Given the description of an element on the screen output the (x, y) to click on. 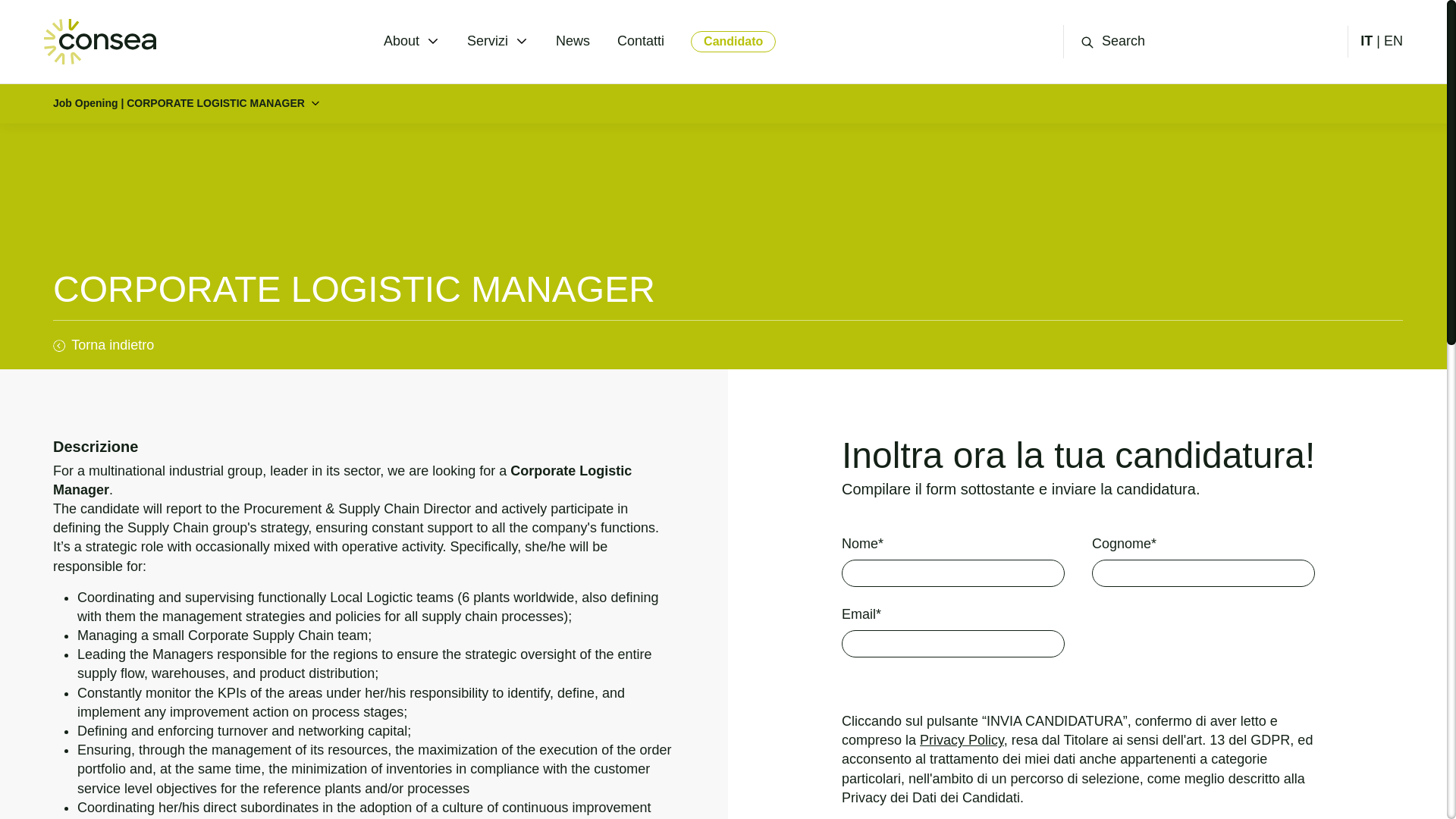
About (401, 40)
Servizi (487, 40)
News (572, 40)
Candidato (733, 41)
Contatti (640, 40)
EN (1393, 40)
Candidato (733, 41)
